Given the description of an element on the screen output the (x, y) to click on. 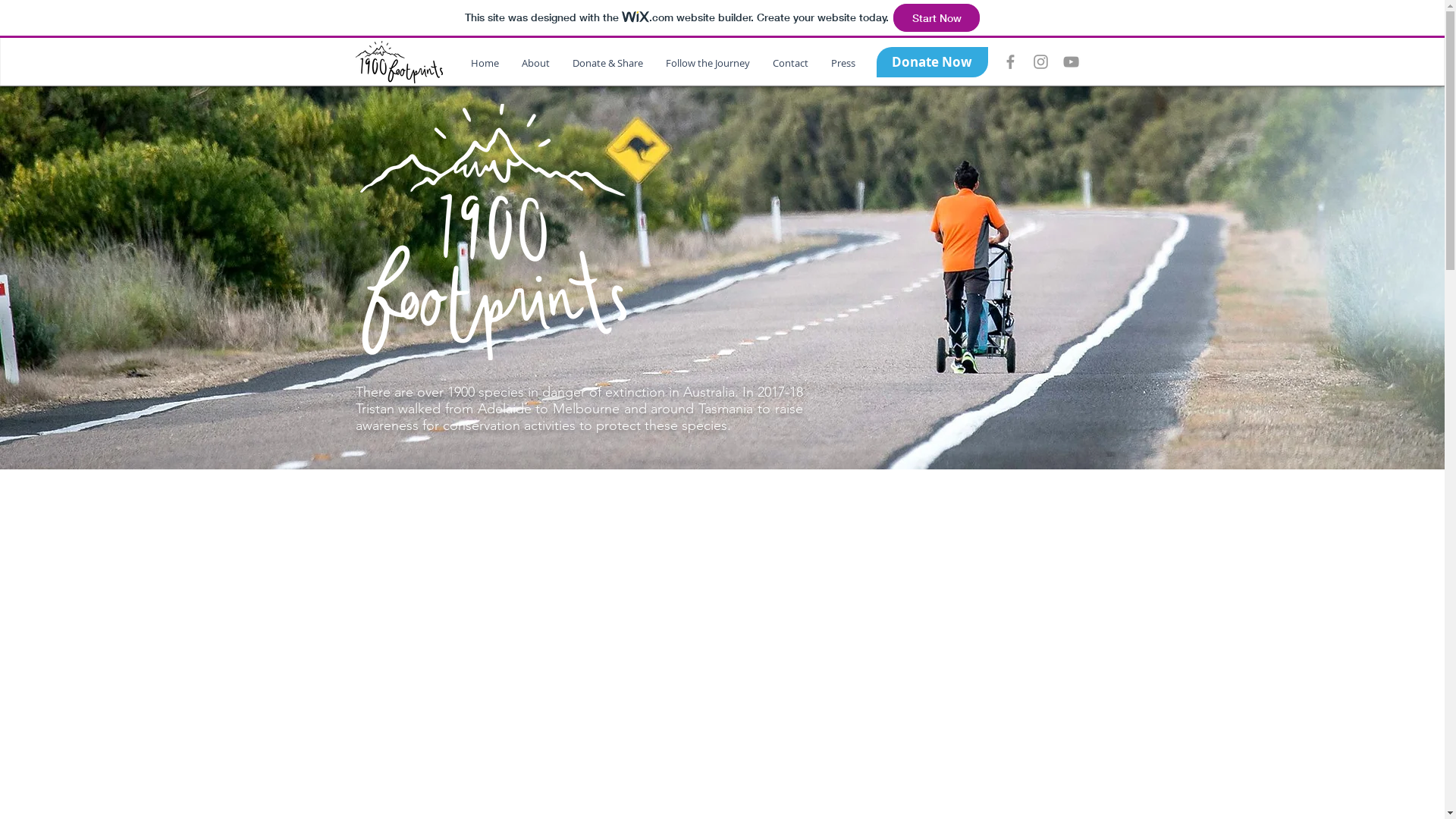
Donate Now Element type: text (932, 62)
Press Element type: text (842, 63)
Donate & Share Element type: text (607, 63)
1900FootprintsSidepng.png Element type: hover (398, 61)
Home Element type: text (484, 63)
Follow the Journey Element type: text (706, 63)
1900Footprints.png Element type: hover (492, 231)
Contact Element type: text (790, 63)
About Element type: text (534, 63)
